Given the description of an element on the screen output the (x, y) to click on. 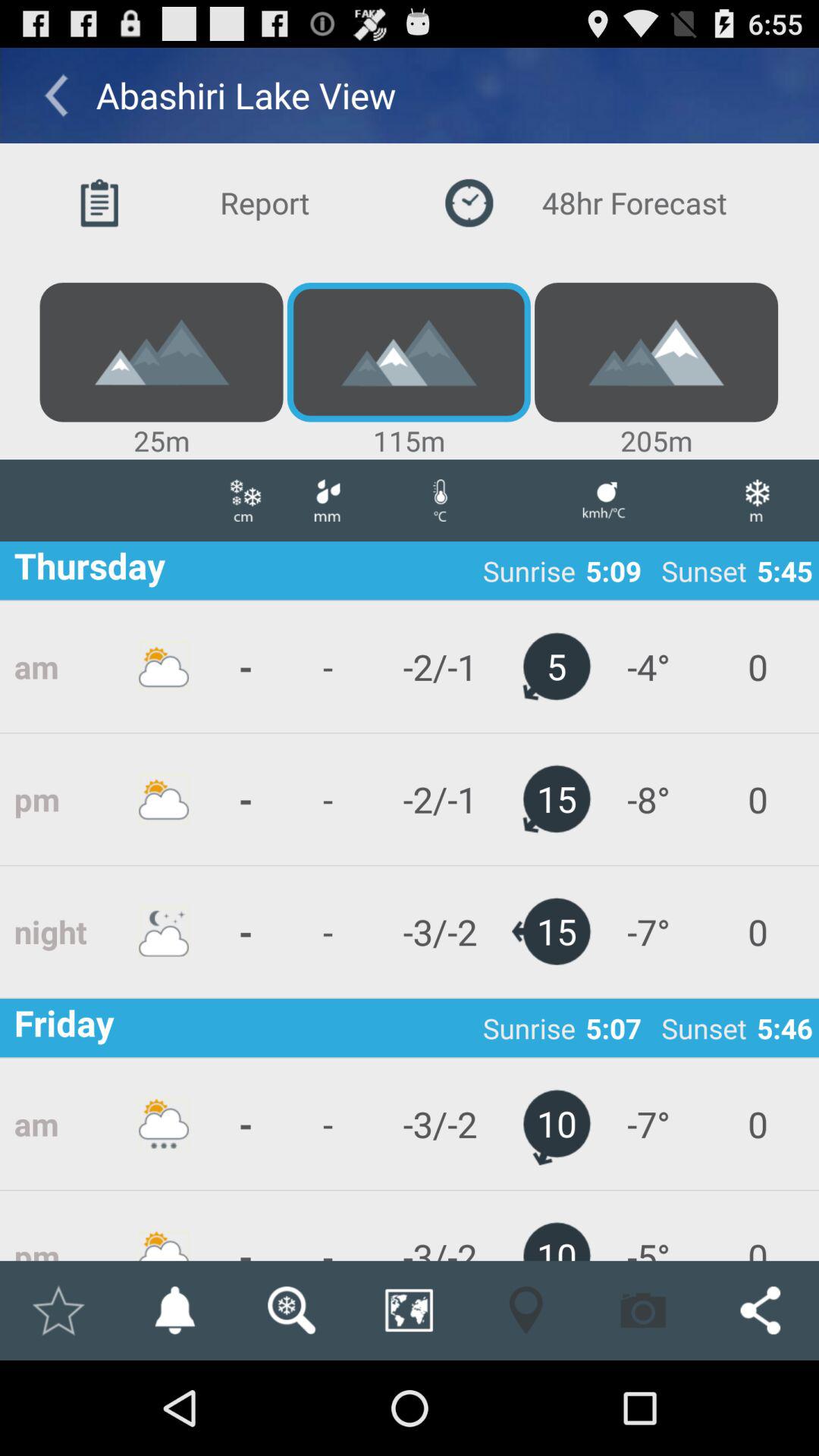
choose app next to the -2/-1 icon (327, 931)
